Given the description of an element on the screen output the (x, y) to click on. 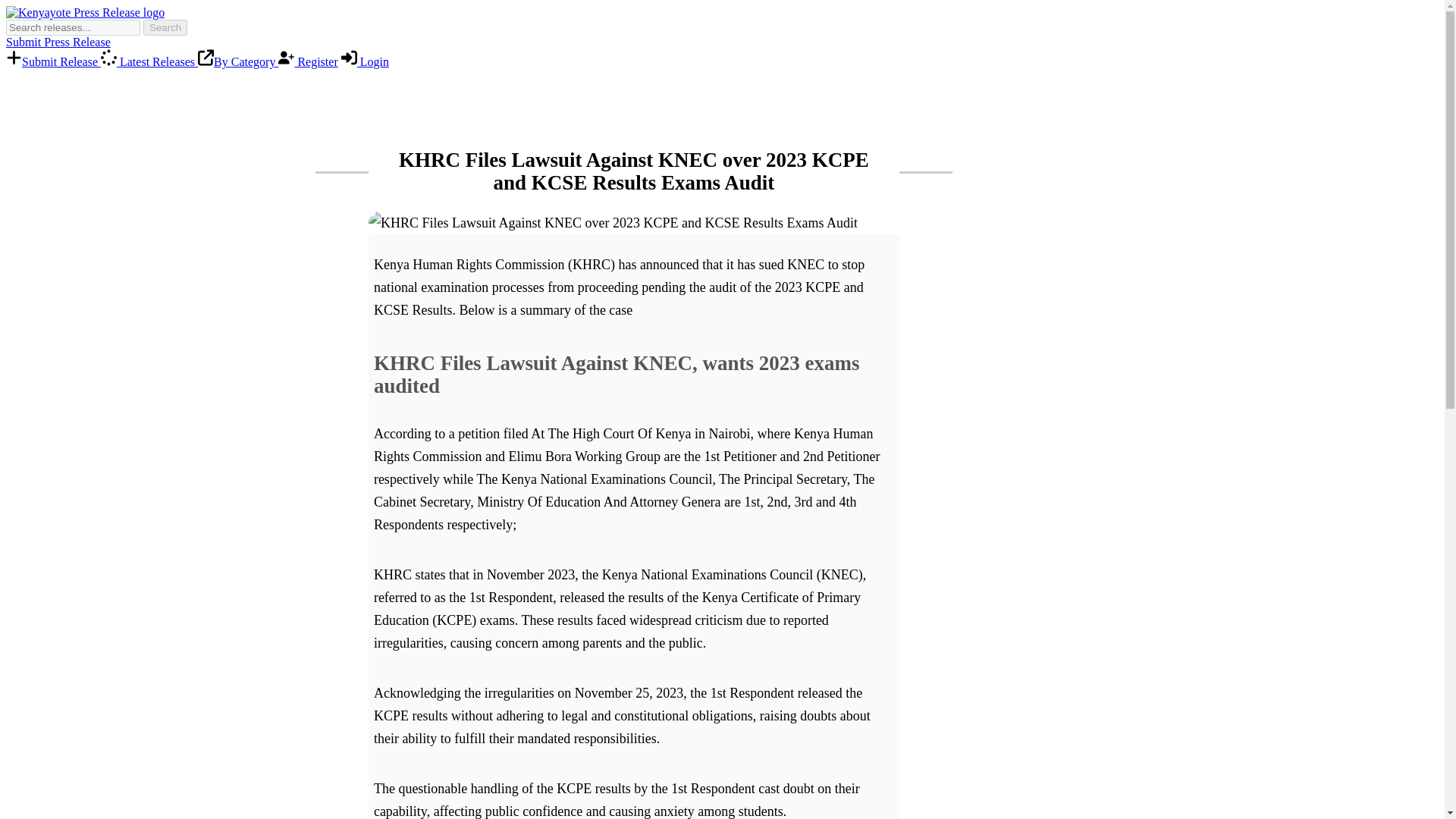
Submit Press Release (57, 42)
Submit Release (52, 61)
Register (307, 61)
By Category (238, 61)
Search (164, 27)
Latest Releases (149, 61)
Login (364, 61)
